Given the description of an element on the screen output the (x, y) to click on. 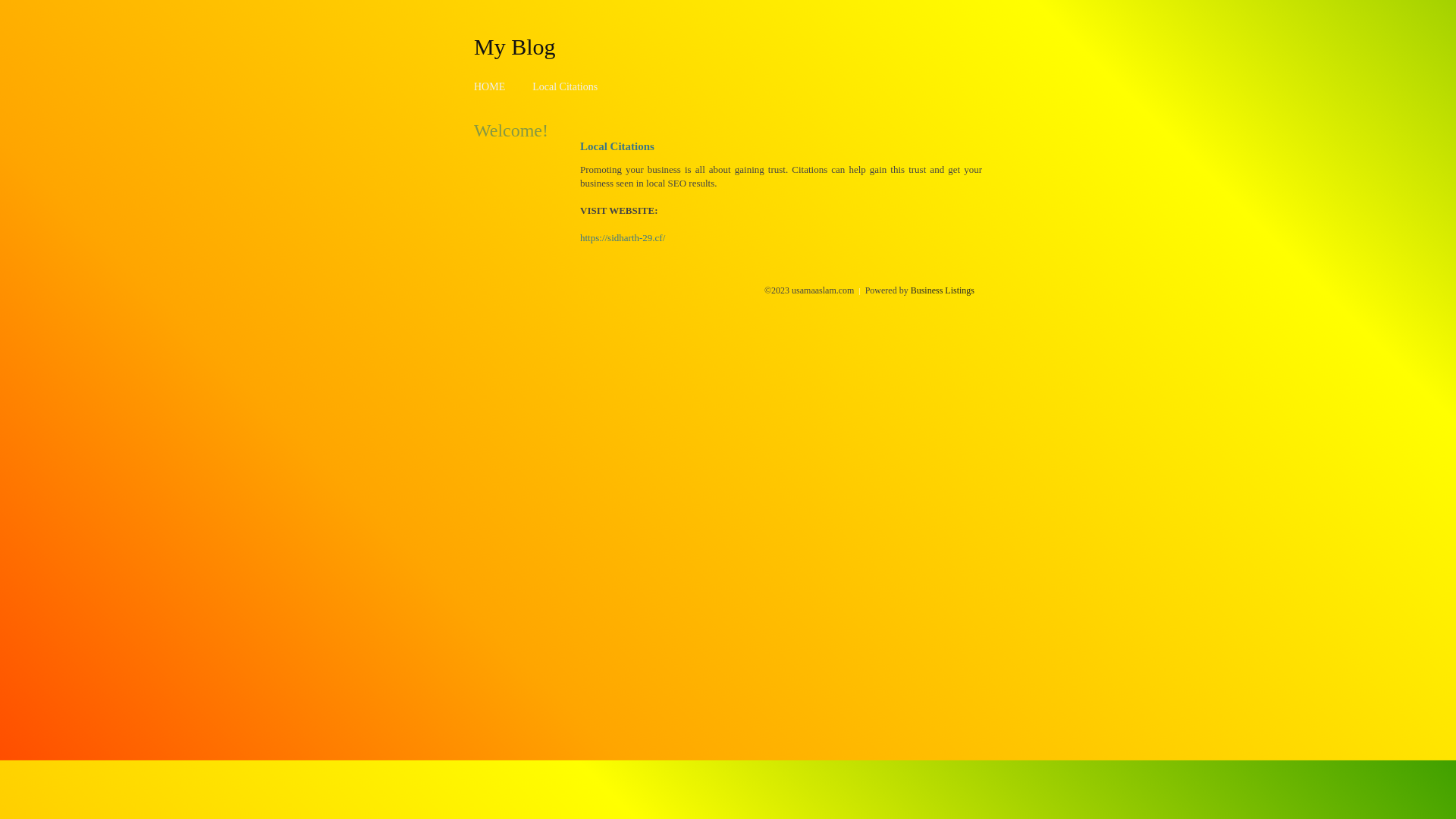
Local Citations Element type: text (564, 86)
https://sidharth-29.cf/ Element type: text (622, 237)
Business Listings Element type: text (942, 290)
HOME Element type: text (489, 86)
My Blog Element type: text (514, 46)
